Given the description of an element on the screen output the (x, y) to click on. 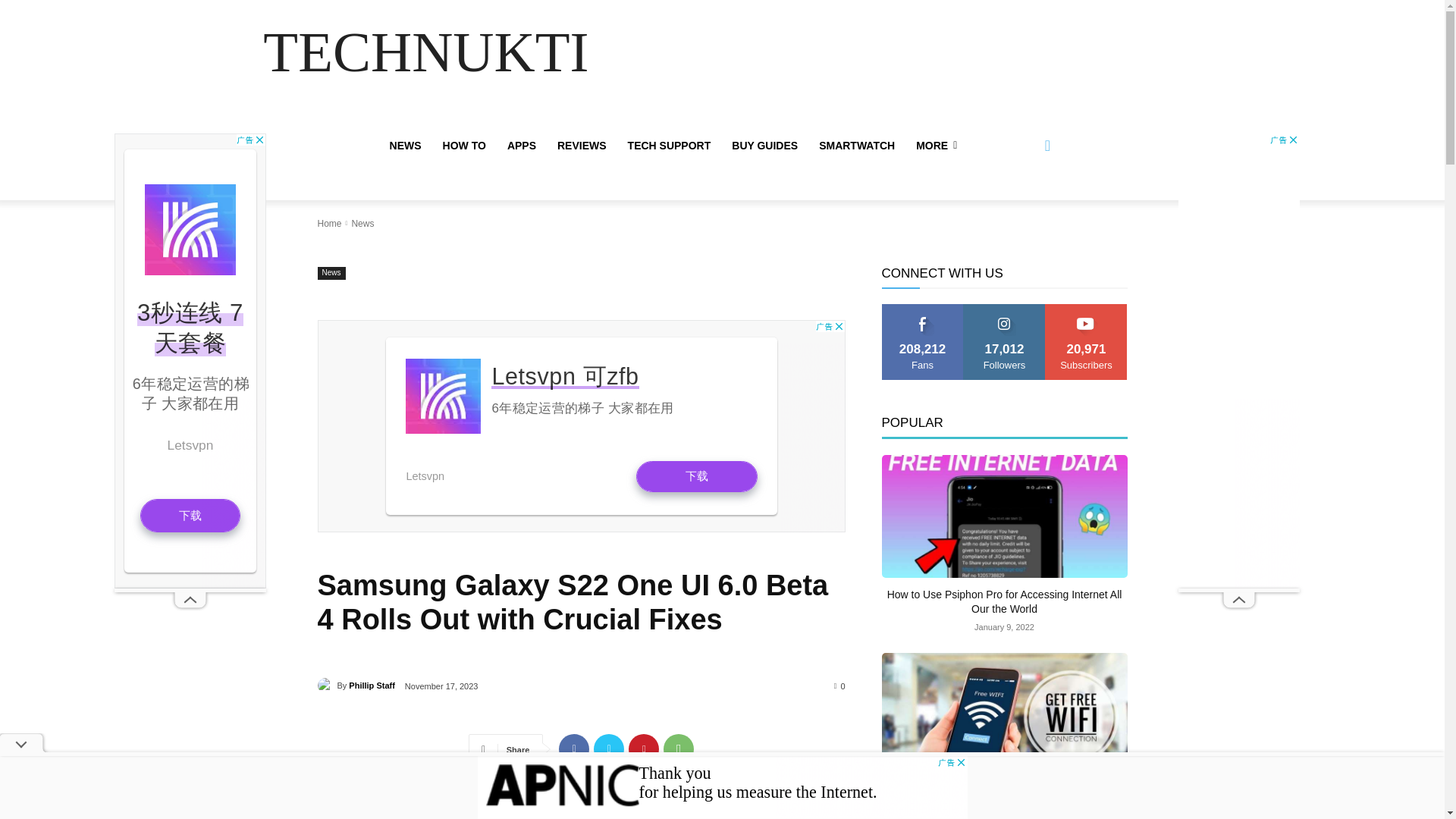
SMARTWATCH (856, 145)
REVIEWS (582, 145)
Facebook (574, 748)
Advertisement (580, 426)
TECH SUPPORT (669, 145)
NEWS (405, 145)
HOW TO (464, 145)
BUY GUIDES (764, 145)
APPS (521, 145)
TECHNUKTI (425, 52)
View all posts in News (362, 223)
Phillip Staff (326, 685)
